Given the description of an element on the screen output the (x, y) to click on. 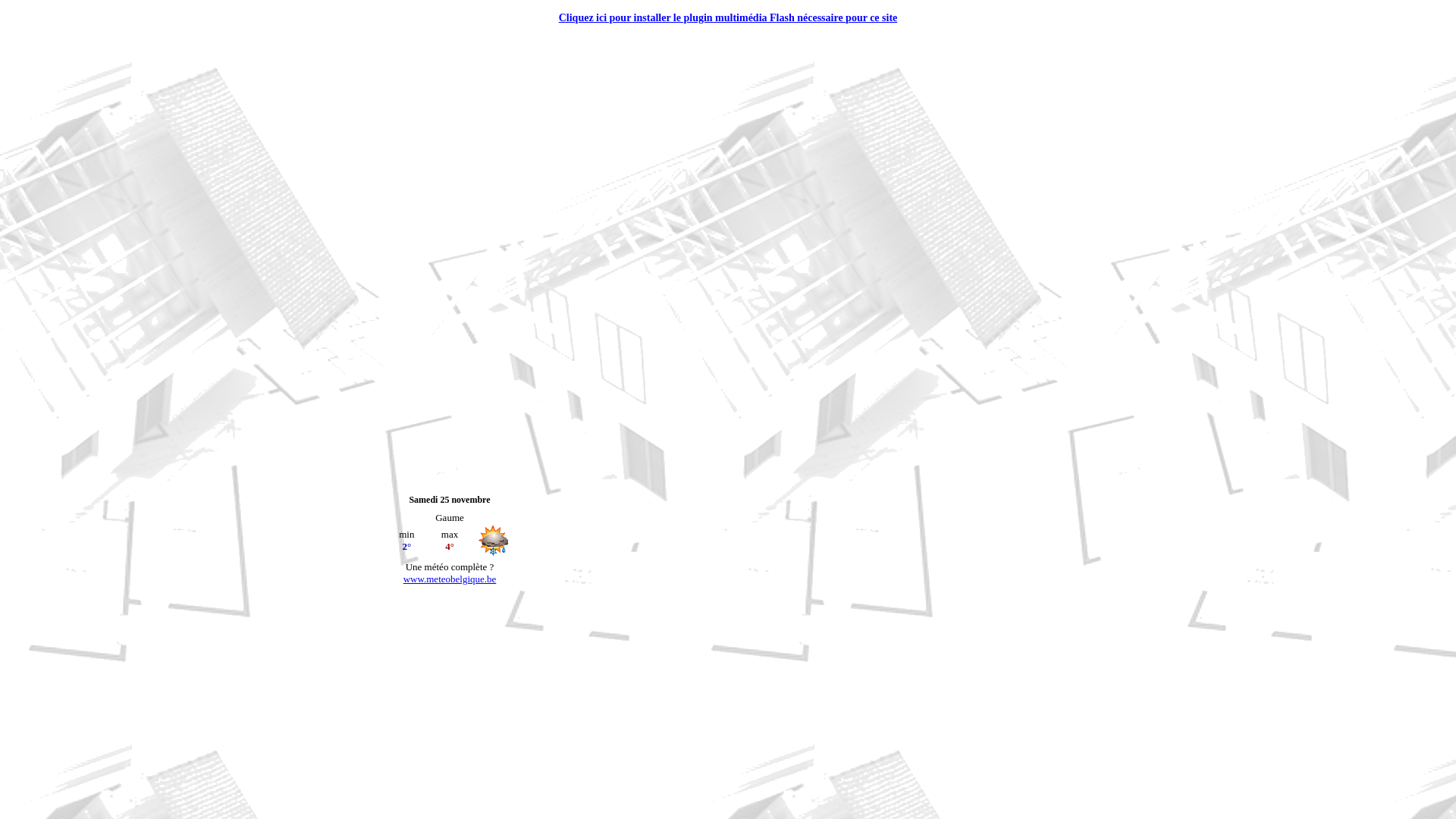
  Element type: text (386, 6)
  Element type: text (386, 598)
